Given the description of an element on the screen output the (x, y) to click on. 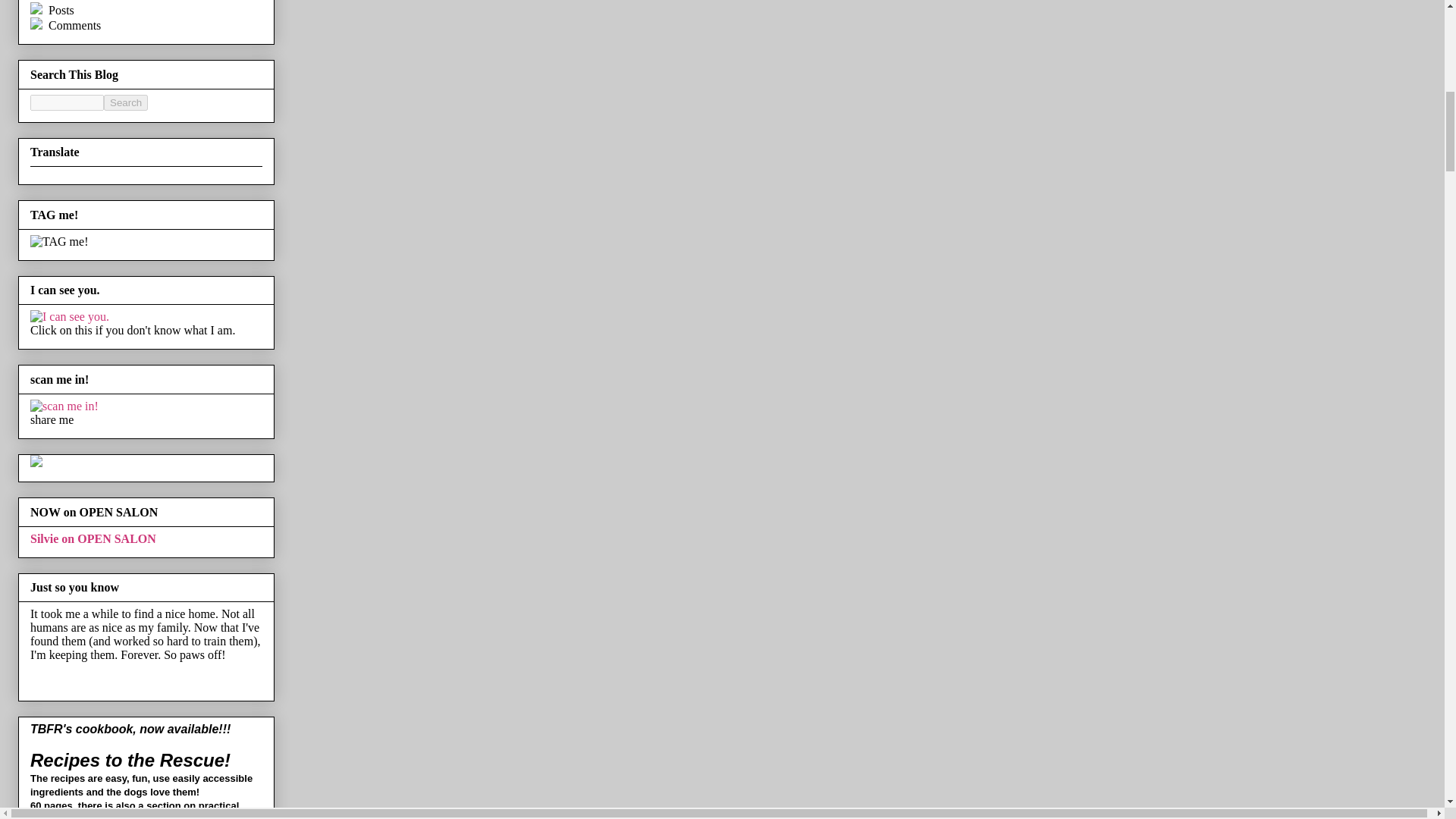
search (125, 102)
Search (125, 102)
search (66, 102)
Search (125, 102)
Silvie on OPEN SALON (92, 538)
Search (125, 102)
